Given the description of an element on the screen output the (x, y) to click on. 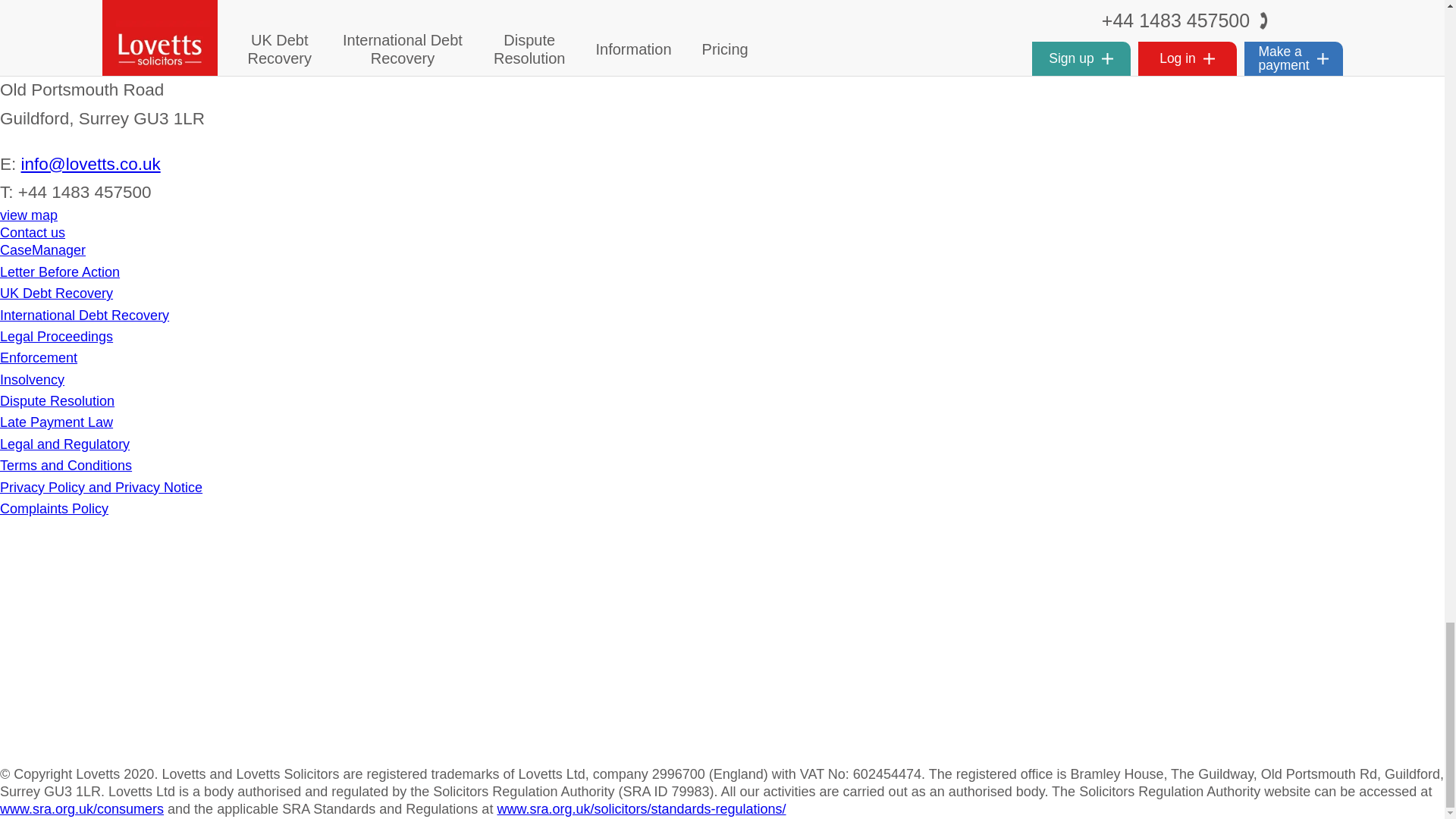
Letter Before Action (59, 272)
Enforcement (38, 357)
Complaints Policy (53, 508)
International Debt Recovery (84, 314)
view map (29, 215)
UK Debt Recovery (56, 293)
Insolvency (32, 379)
Privacy Policy and Privacy Notice (101, 487)
Contact us (32, 232)
Legal and Regulatory (64, 444)
